Given the description of an element on the screen output the (x, y) to click on. 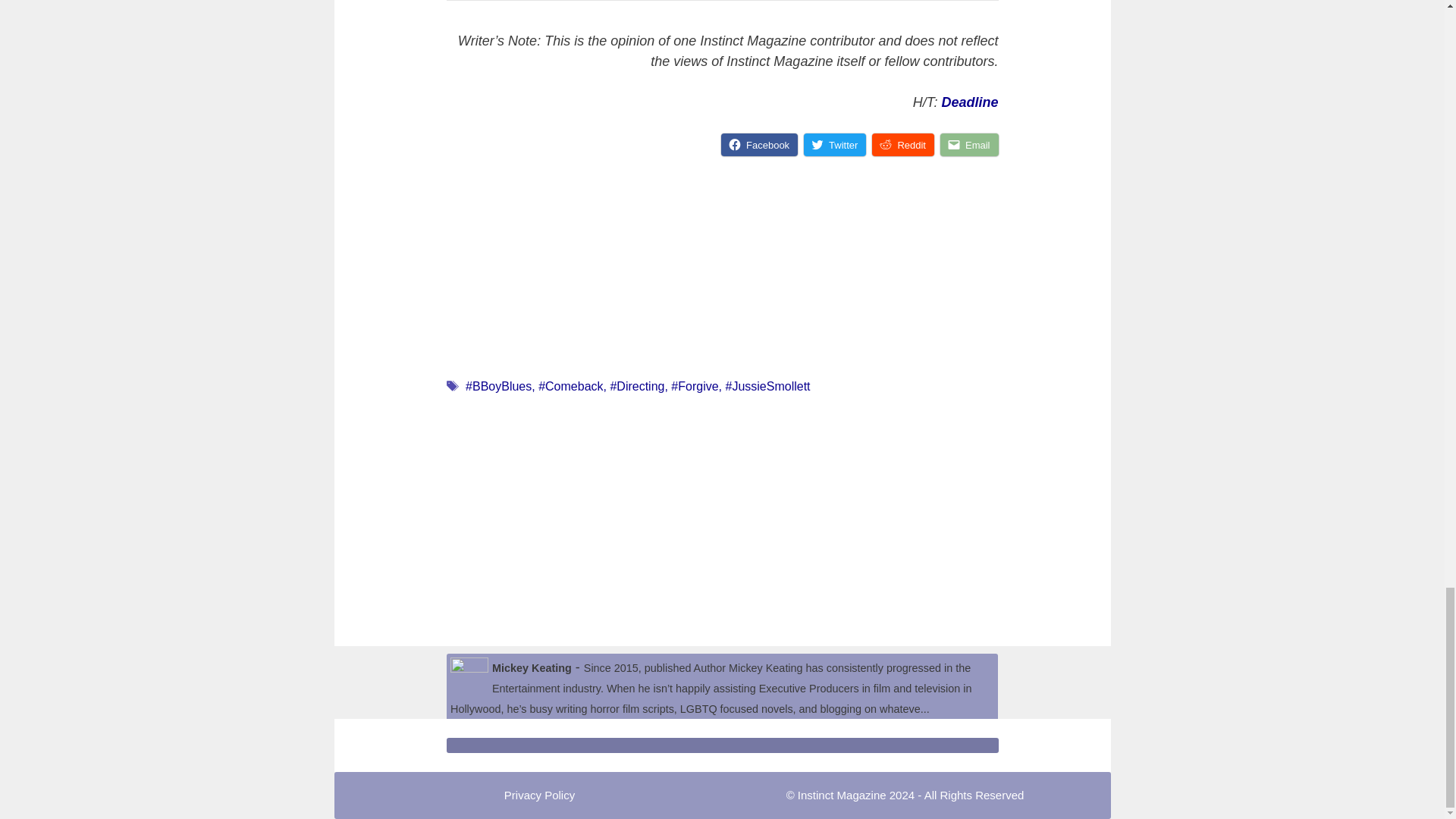
Click to share on Facebook (758, 144)
Click to share on Reddit (903, 144)
Click to email a link to a friend (969, 144)
Facebook (758, 144)
View all posts by Mickey Keating (532, 667)
Click to share on Twitter (834, 144)
Deadline (968, 102)
Twitter (834, 144)
